Given the description of an element on the screen output the (x, y) to click on. 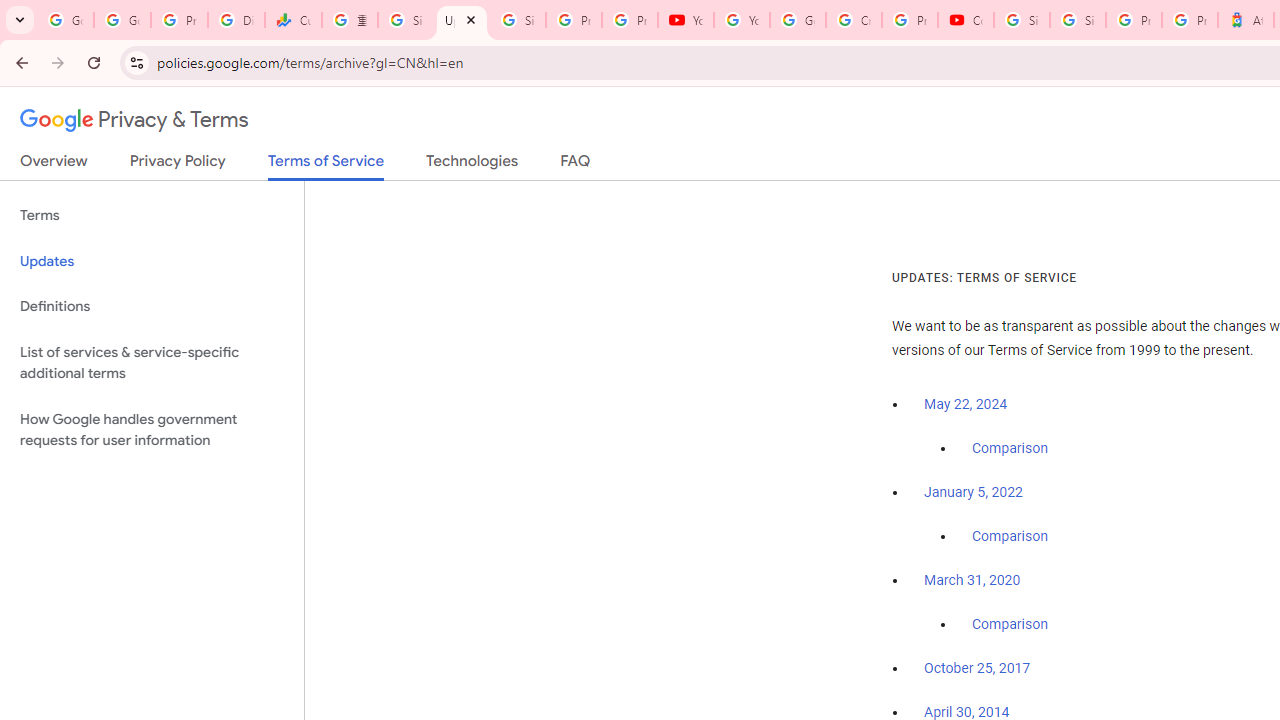
Create your Google Account (853, 20)
January 5, 2022 (973, 492)
October 25, 2017 (977, 669)
YouTube (742, 20)
Definitions (152, 306)
Sign in - Google Accounts (405, 20)
Sign in - Google Accounts (1021, 20)
